Given the description of an element on the screen output the (x, y) to click on. 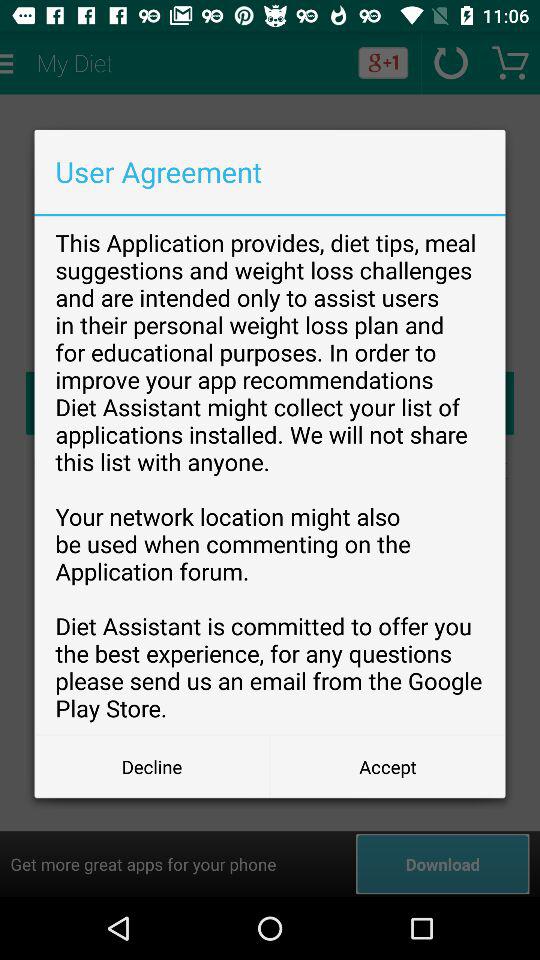
choose item next to accept icon (151, 766)
